Given the description of an element on the screen output the (x, y) to click on. 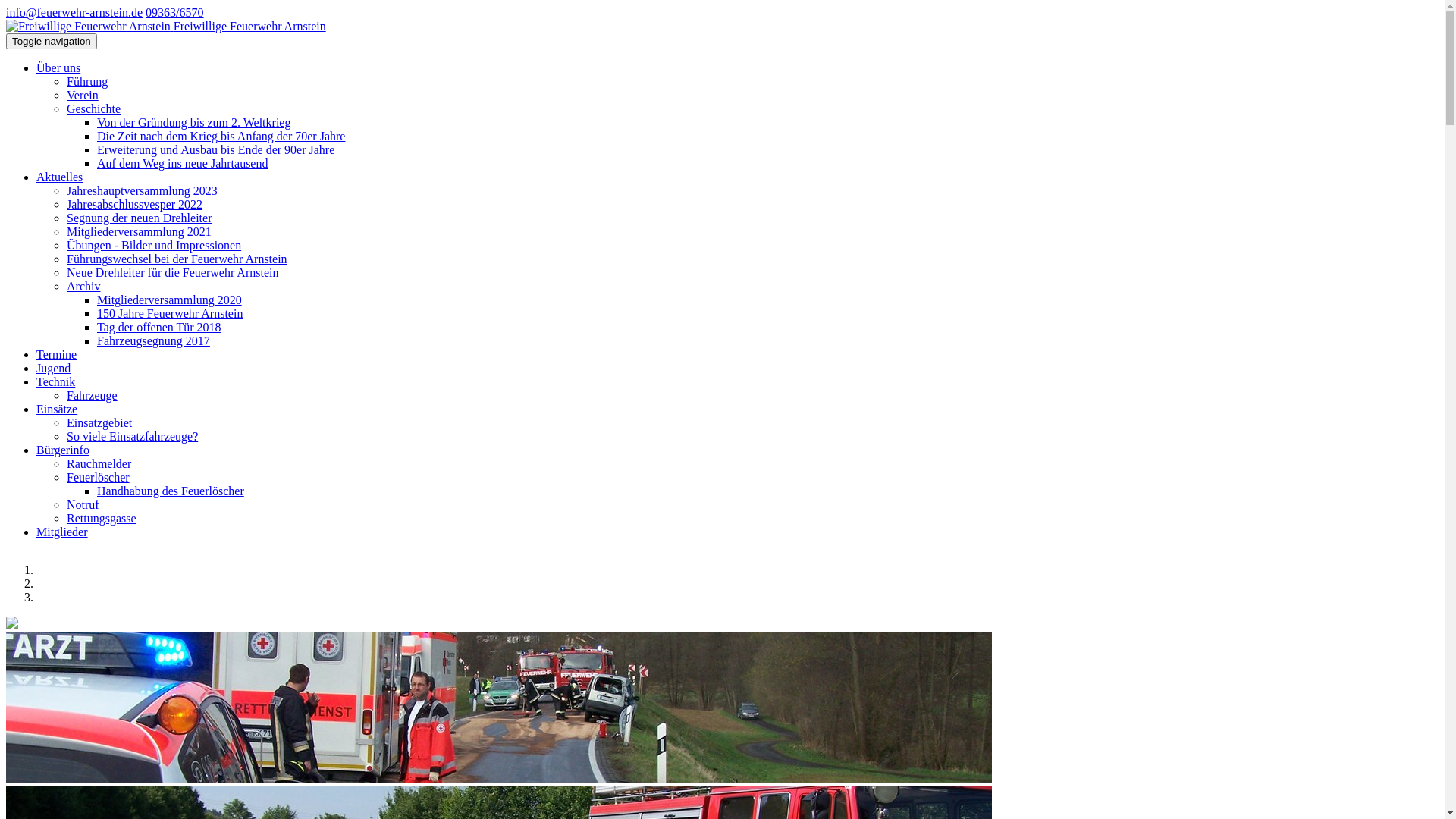
Mitglieder Element type: text (61, 531)
Mitgliederversammlung 2020 Element type: text (169, 299)
Aktuelles Element type: text (59, 176)
Einsatzgebiet Element type: text (98, 422)
Auf dem Weg ins neue Jahrtausend Element type: text (182, 162)
So viele Einsatzfahrzeuge? Element type: text (131, 435)
Jahresabschlussvesper 2022 Element type: text (134, 203)
150 Jahre Feuerwehr Arnstein Element type: text (169, 313)
Fahrzeuge Element type: text (91, 395)
Jugend Element type: text (53, 367)
Rauchmelder Element type: text (98, 463)
Freiwillige Feuerwehr Arnstein Element type: hover (88, 26)
Toggle navigation Element type: text (51, 41)
Freiwillige Feuerwehr Arnstein Element type: text (166, 25)
Notruf Element type: text (82, 504)
Termine Element type: text (56, 354)
Segnung der neuen Drehleiter Element type: text (138, 217)
Jahreshauptversammlung 2023 Element type: text (141, 190)
Fahrzeugsegnung 2017 Element type: text (153, 340)
Archiv Element type: text (83, 285)
Verein Element type: text (82, 94)
Mitgliederversammlung 2021 Element type: text (138, 231)
09363/6570 Element type: text (174, 12)
Geschichte Element type: text (93, 108)
Die Zeit nach dem Krieg bis Anfang der 70er Jahre Element type: text (221, 135)
Technik Element type: text (55, 381)
Erweiterung und Ausbau bis Ende der 90er Jahre Element type: text (215, 149)
info@feuerwehr-arnstein.de Element type: text (74, 12)
Rettungsgasse Element type: text (101, 517)
